Given the description of an element on the screen output the (x, y) to click on. 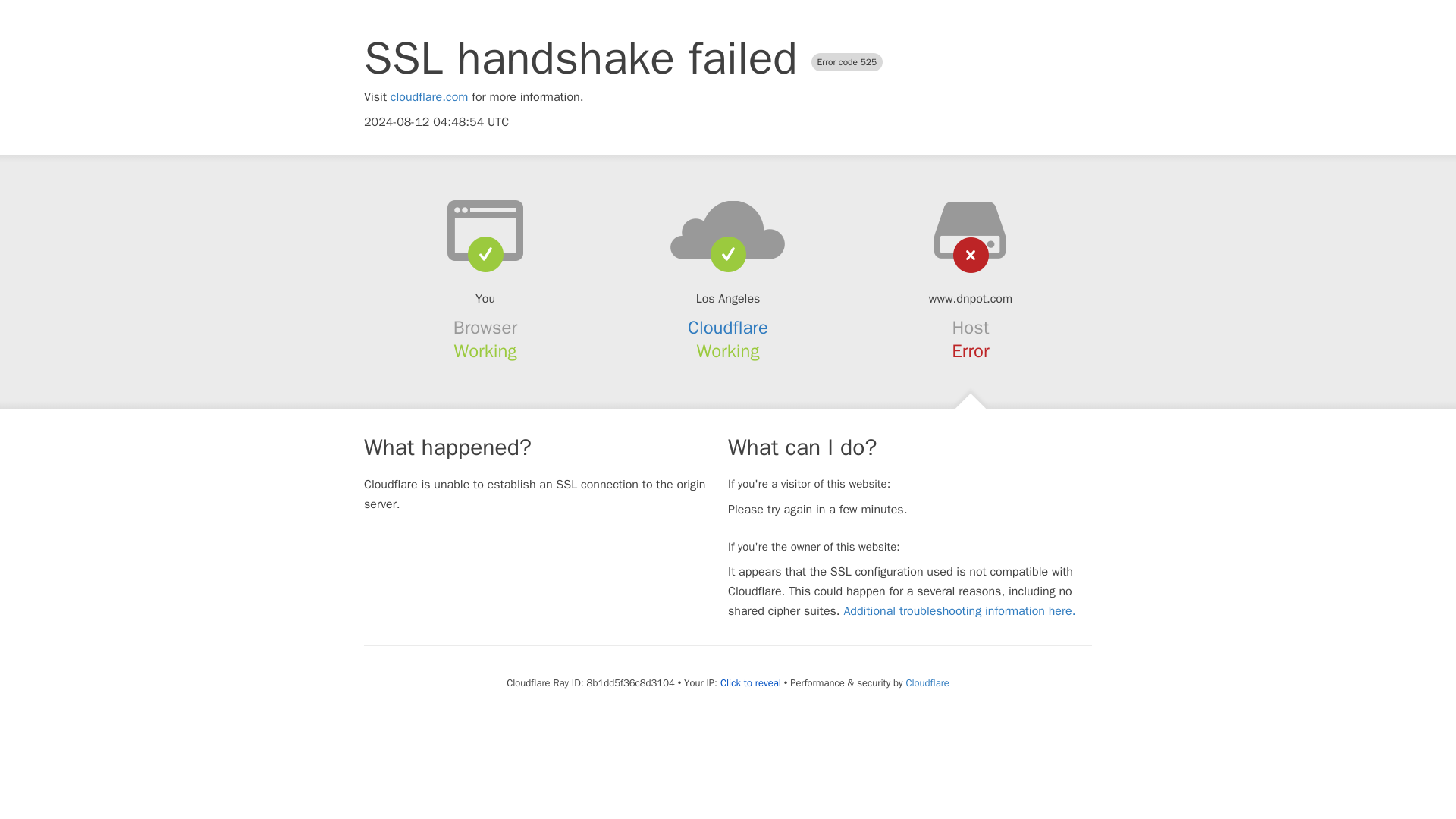
Click to reveal (750, 683)
Additional troubleshooting information here. (959, 611)
Cloudflare (927, 682)
cloudflare.com (429, 96)
Cloudflare (727, 327)
